Given the description of an element on the screen output the (x, y) to click on. 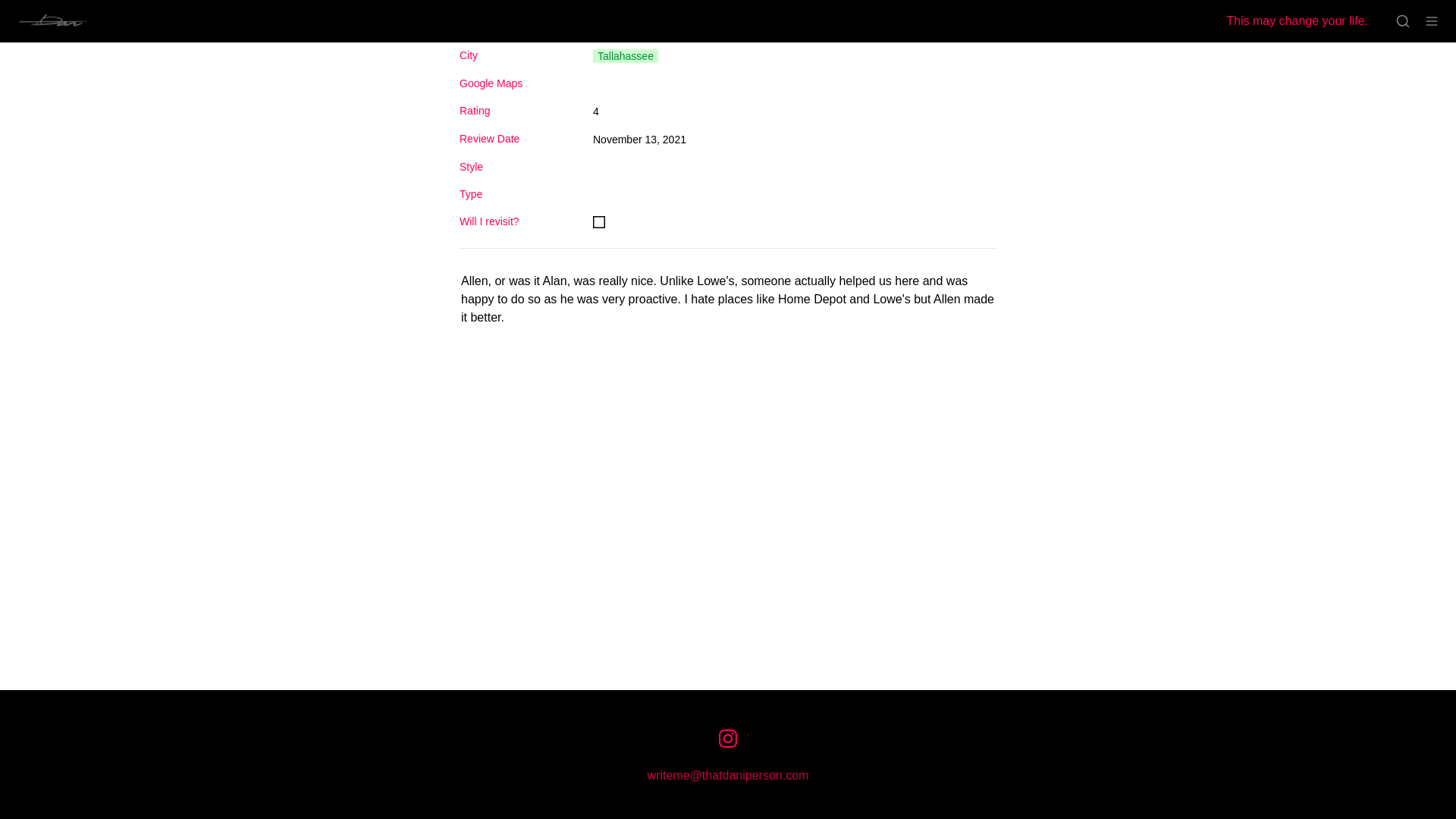
Instagram (727, 738)
This may change your life. (1300, 21)
Instagram (727, 738)
